Given the description of an element on the screen output the (x, y) to click on. 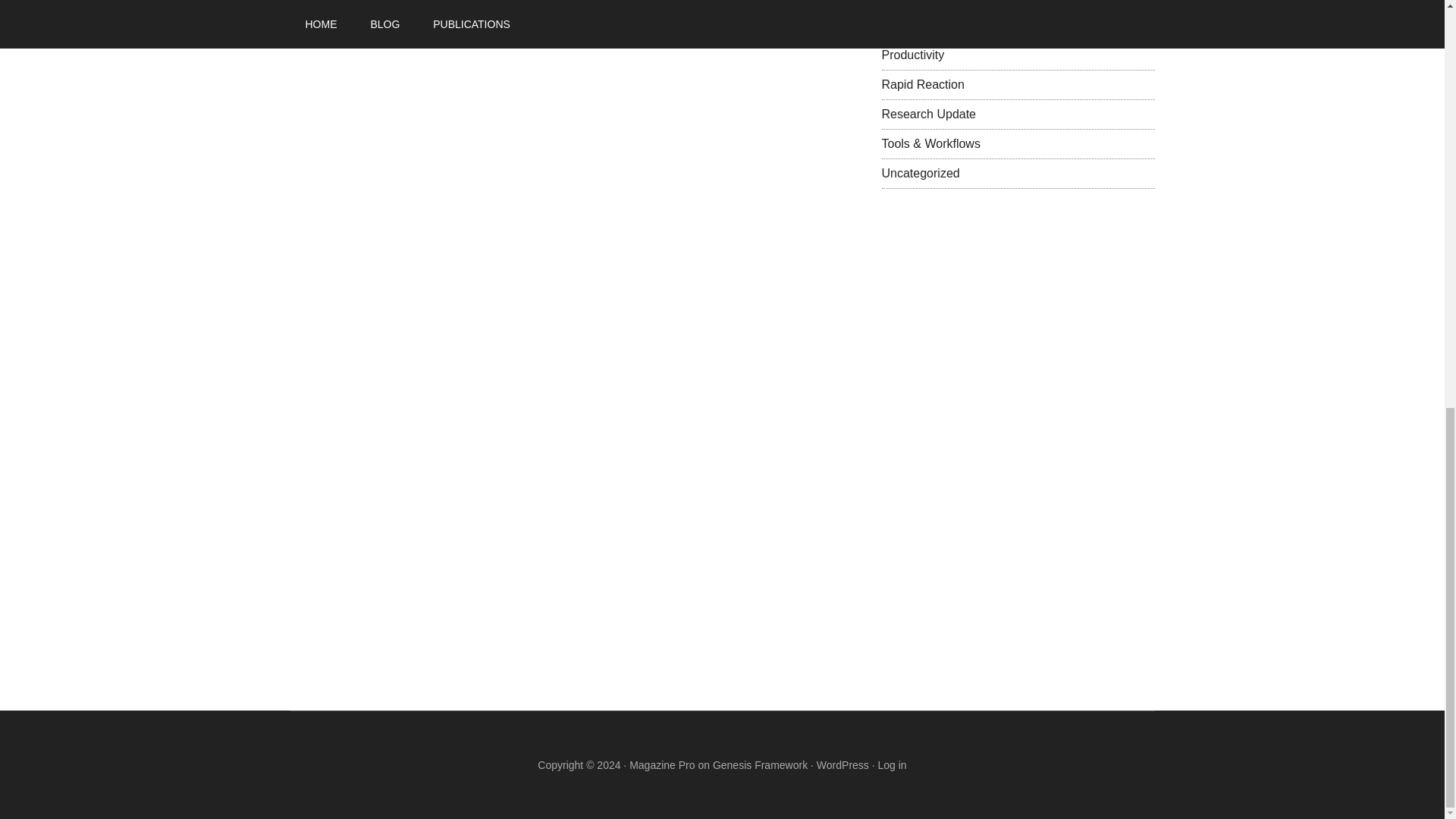
Rapid Reaction (921, 83)
Uncategorized (919, 173)
Productivity (911, 54)
Research Update (927, 113)
NewWar Theories (928, 1)
Predictions (910, 24)
